Given the description of an element on the screen output the (x, y) to click on. 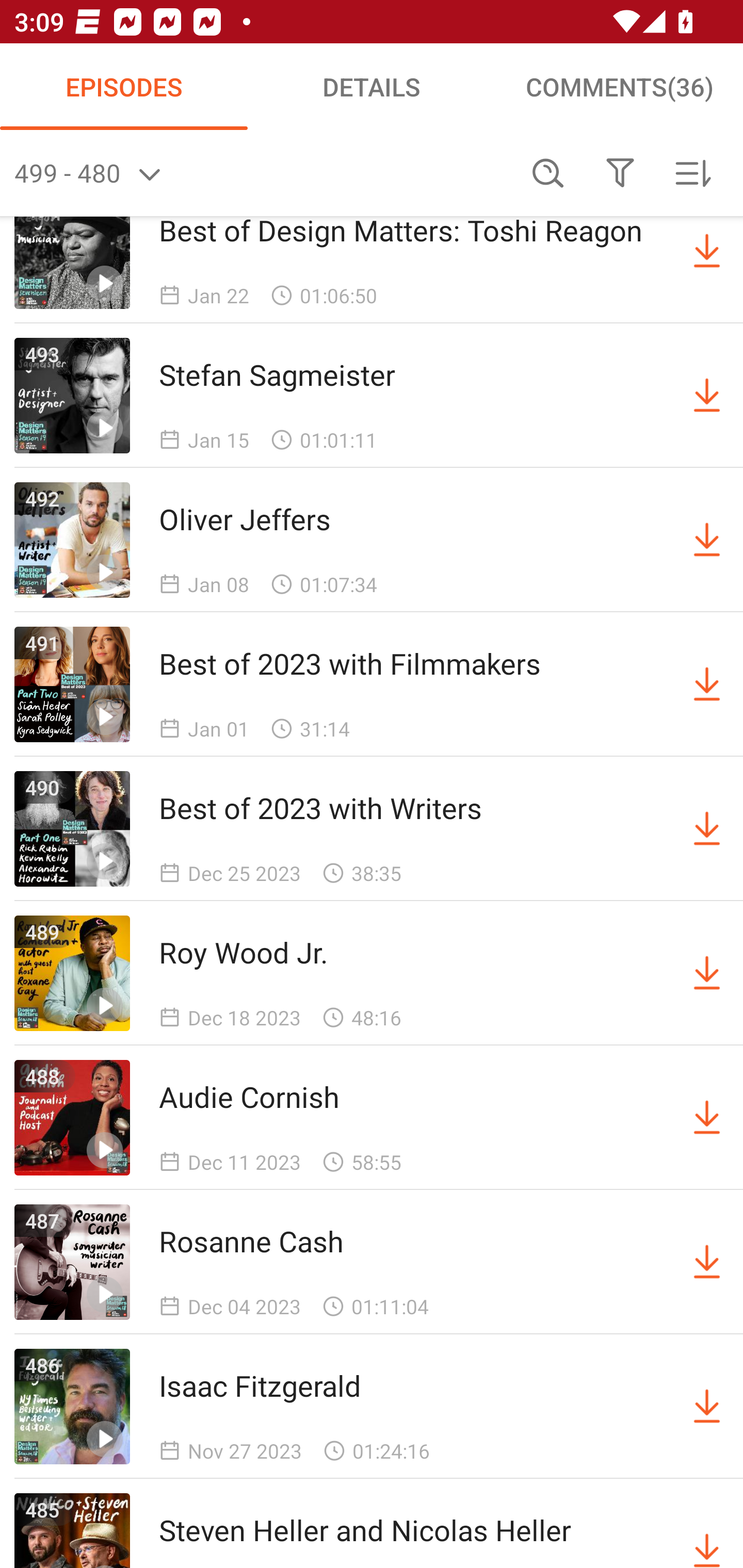
EPISODES (123, 86)
DETAILS (371, 86)
COMMENTS(36) (619, 86)
499 - 480  (262, 173)
 Search (547, 173)
 (619, 173)
 Sorted by newest first (692, 173)
Download (706, 250)
Download (706, 395)
Download (706, 539)
Download (706, 684)
Download (706, 828)
Download (706, 973)
Download (706, 1117)
Download (706, 1262)
Download (706, 1406)
Download (706, 1530)
